Given the description of an element on the screen output the (x, y) to click on. 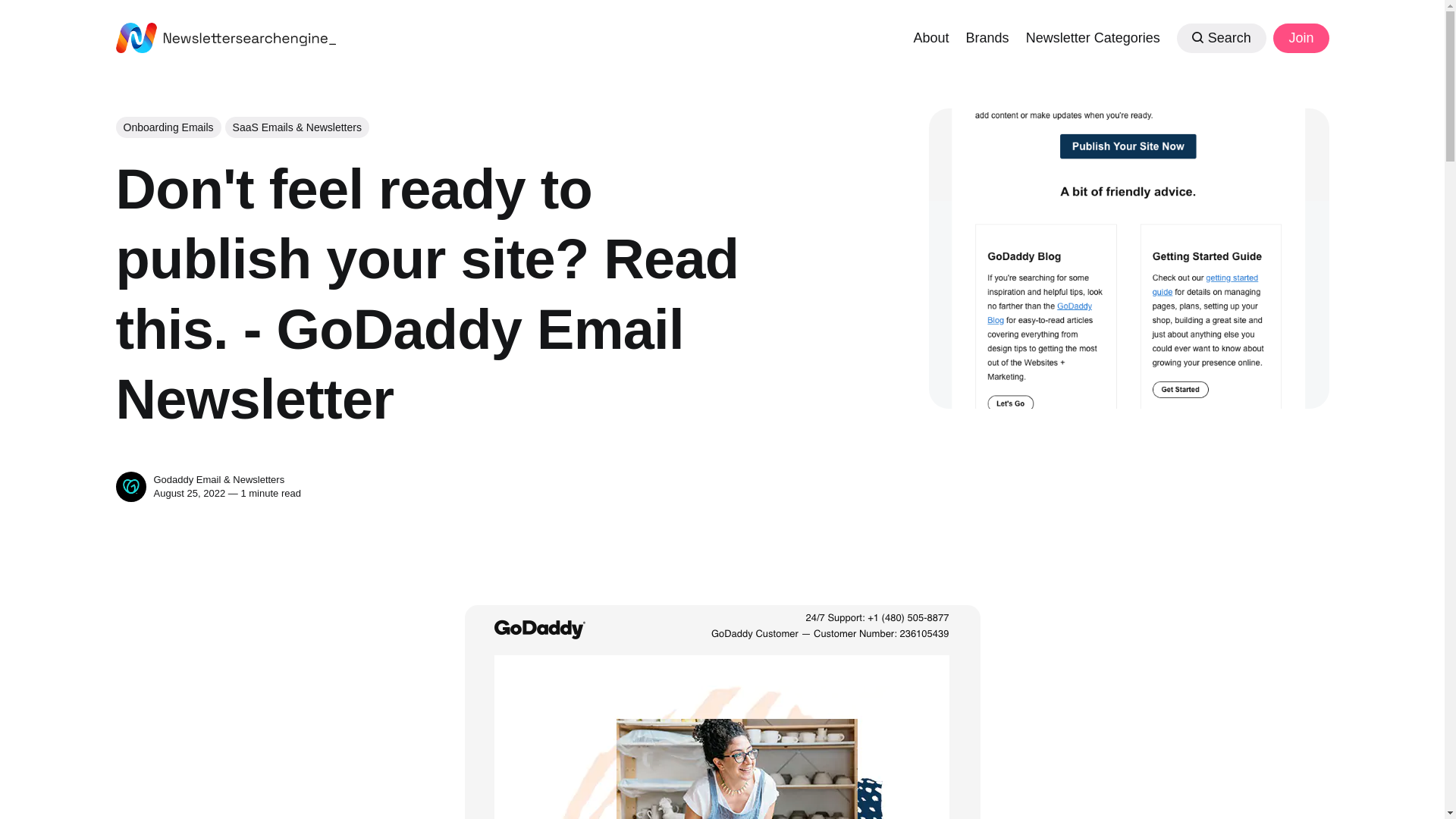
Onboarding Emails (168, 127)
Brands (987, 37)
About (930, 37)
Join (1299, 37)
Newsletter Categories (1093, 37)
